Given the description of an element on the screen output the (x, y) to click on. 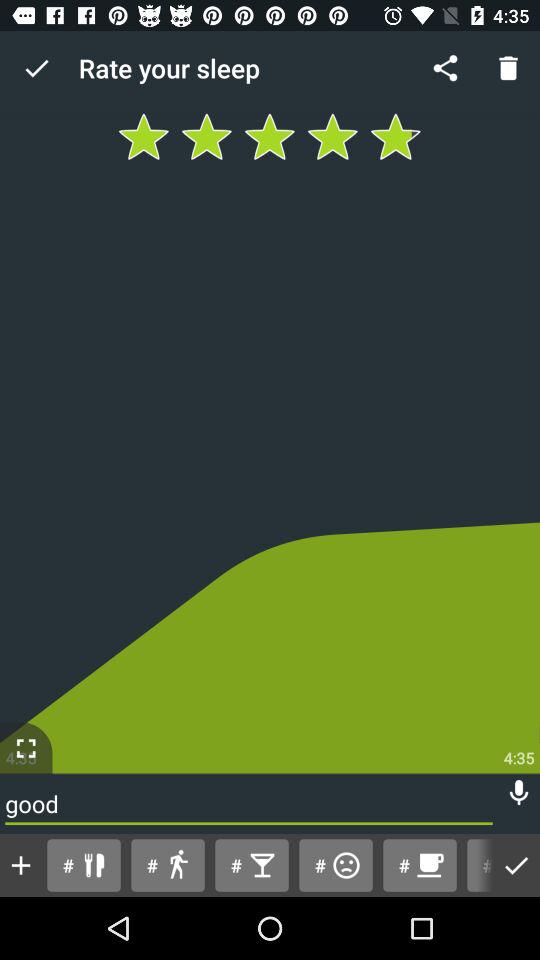
press item above # item (518, 792)
